Given the description of an element on the screen output the (x, y) to click on. 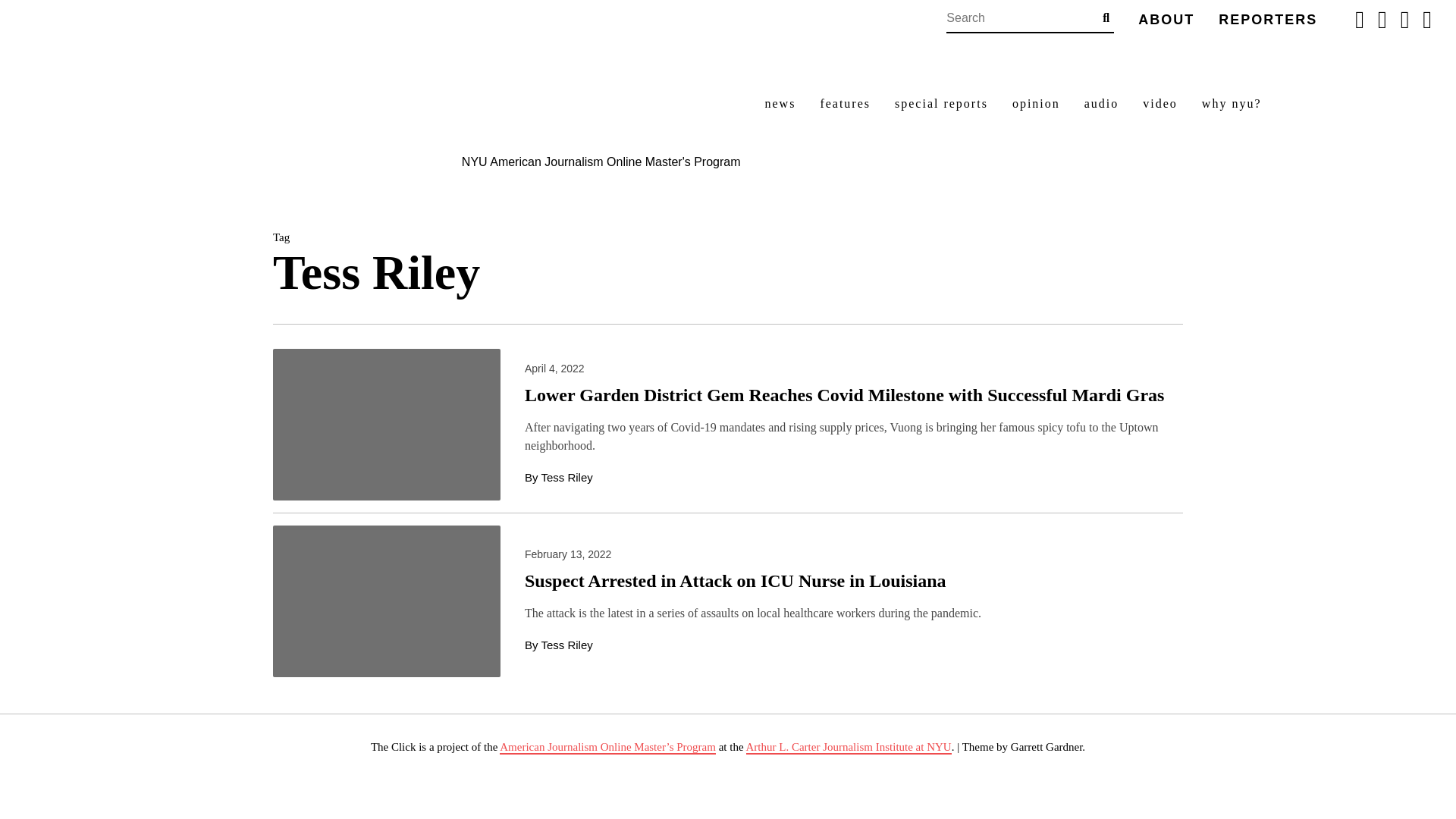
NYU American Journalism Online Master's Program (601, 162)
news (779, 103)
audio (1101, 103)
opinion (1035, 103)
Facebook (1359, 19)
special reports (941, 103)
Twitter (1382, 19)
features (844, 103)
Instagram (1404, 19)
Search (1105, 17)
LinkedIn (1426, 19)
ABOUT (1165, 19)
Facebook (1359, 19)
